Given the description of an element on the screen output the (x, y) to click on. 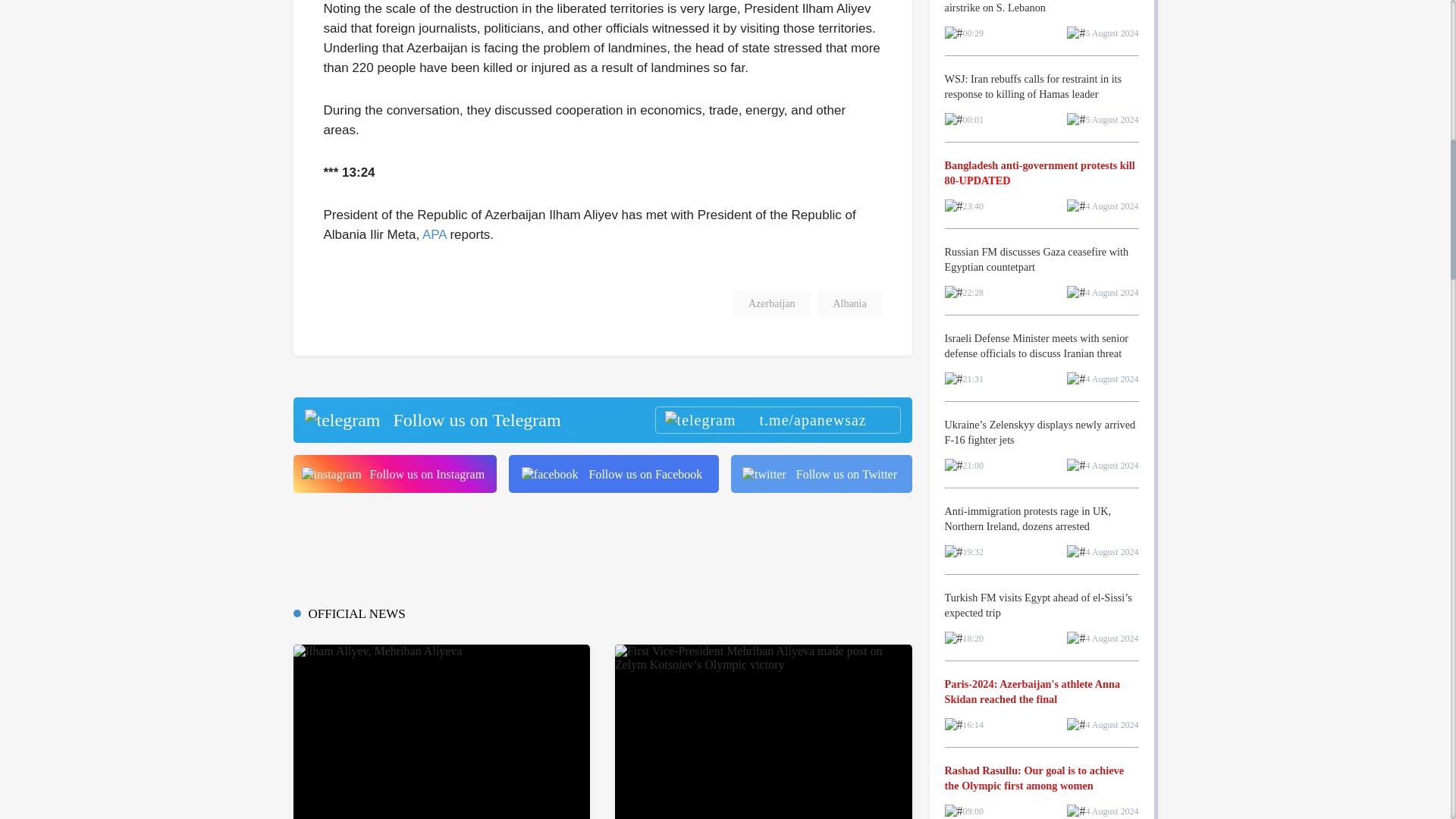
Follow us on Facebook (613, 474)
Follow us on Telegram (601, 420)
Follow us on Twitter (821, 474)
Follow us on Instagram (394, 474)
